Given the description of an element on the screen output the (x, y) to click on. 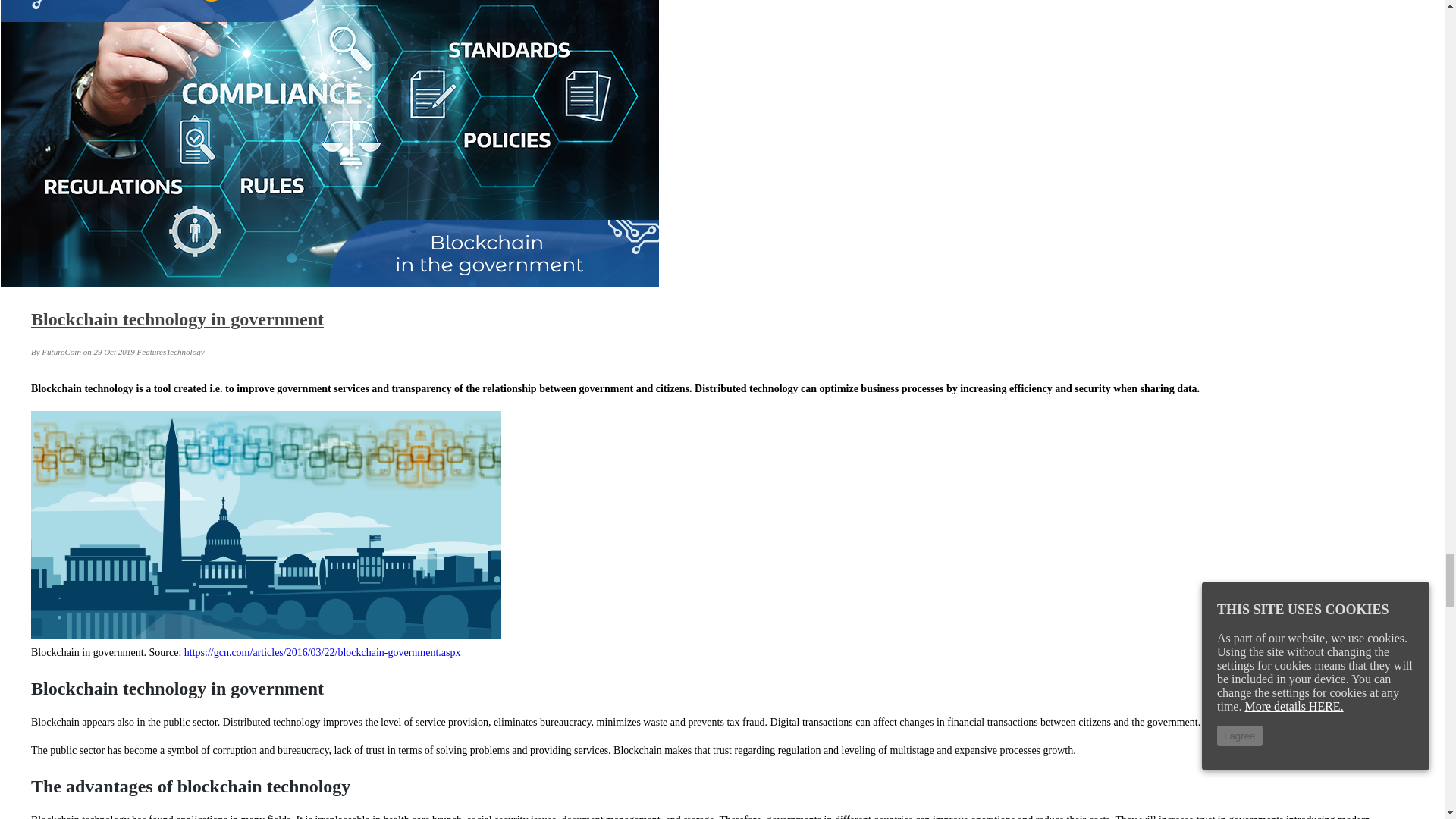
Blockchain technology in government (176, 319)
